Given the description of an element on the screen output the (x, y) to click on. 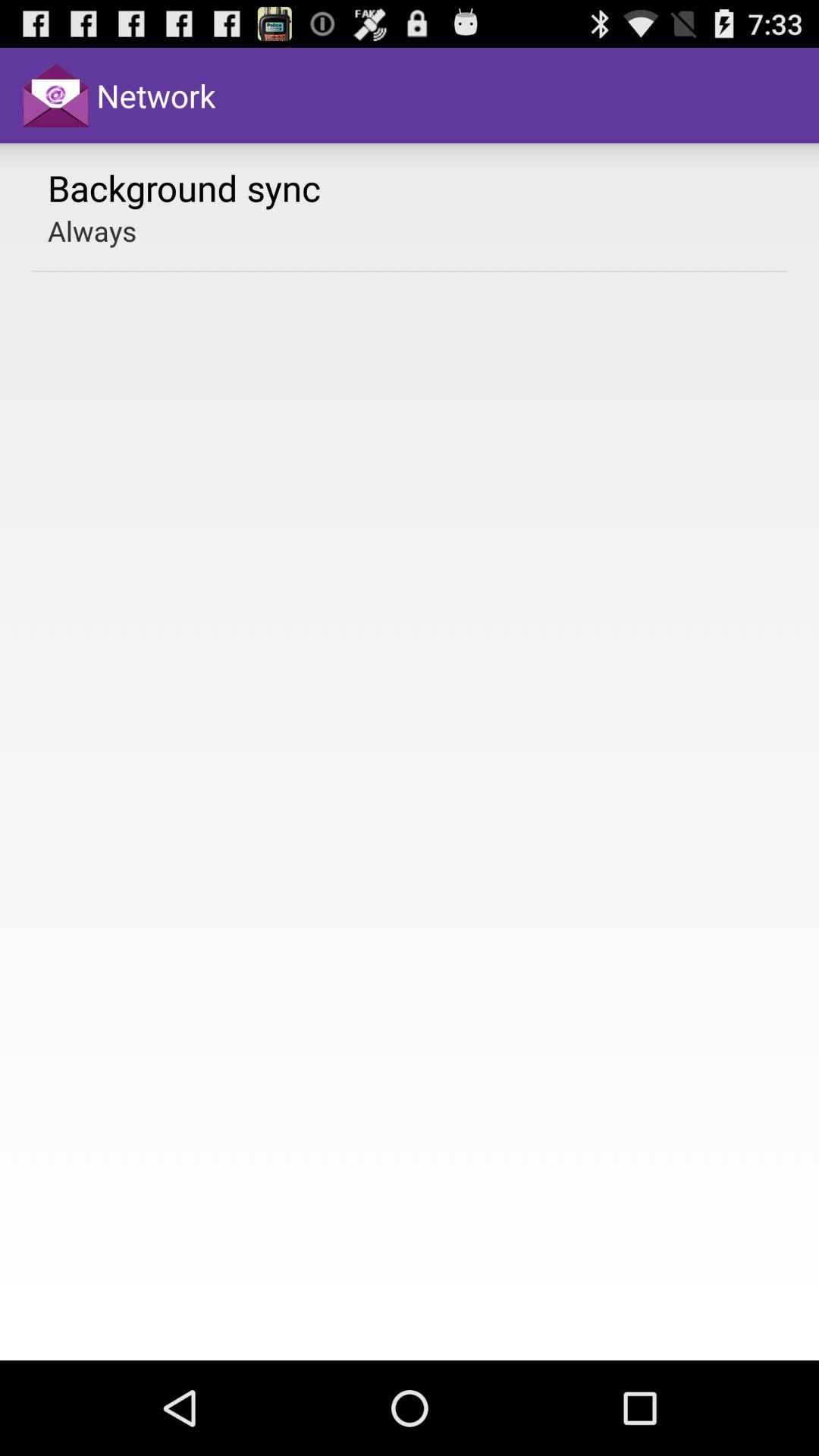
choose always (91, 230)
